Given the description of an element on the screen output the (x, y) to click on. 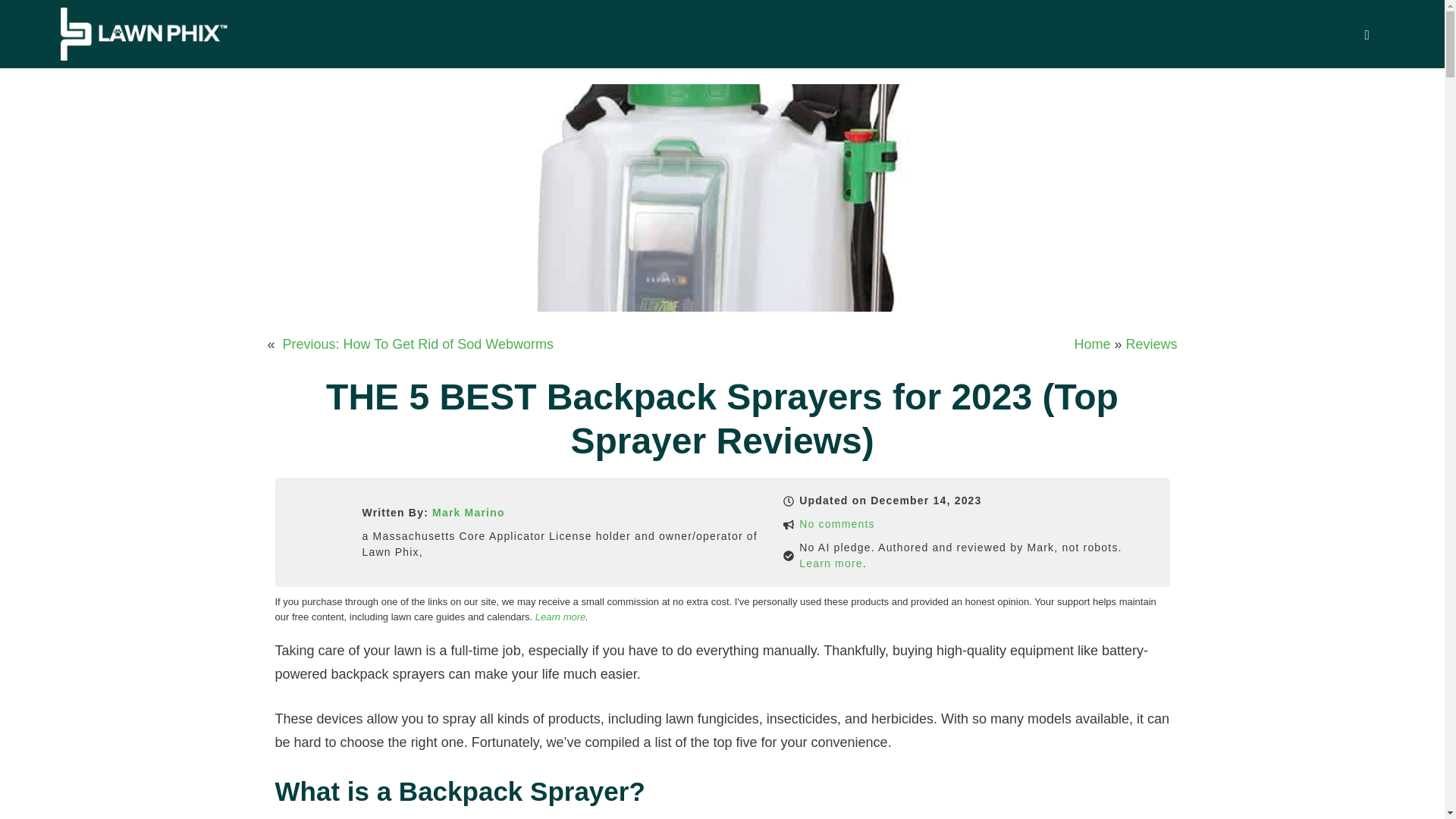
Previous: How To Get Rid of Sod Webworms (418, 344)
Learn more (831, 563)
Reviews (1150, 344)
Home (1091, 344)
Learn more (560, 616)
No comments (837, 523)
Mark Marino (468, 512)
